Given the description of an element on the screen output the (x, y) to click on. 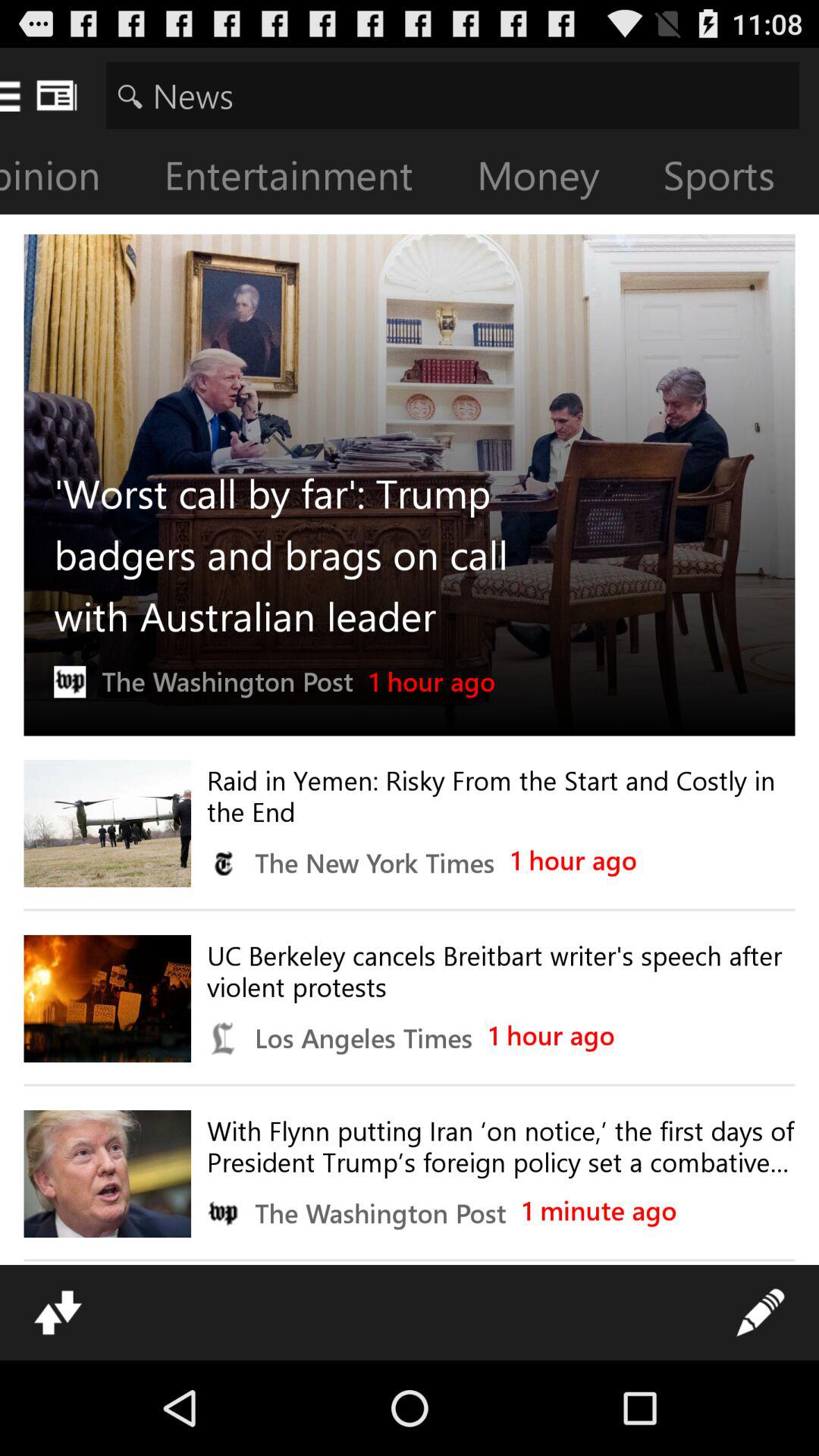
search (452, 95)
